Given the description of an element on the screen output the (x, y) to click on. 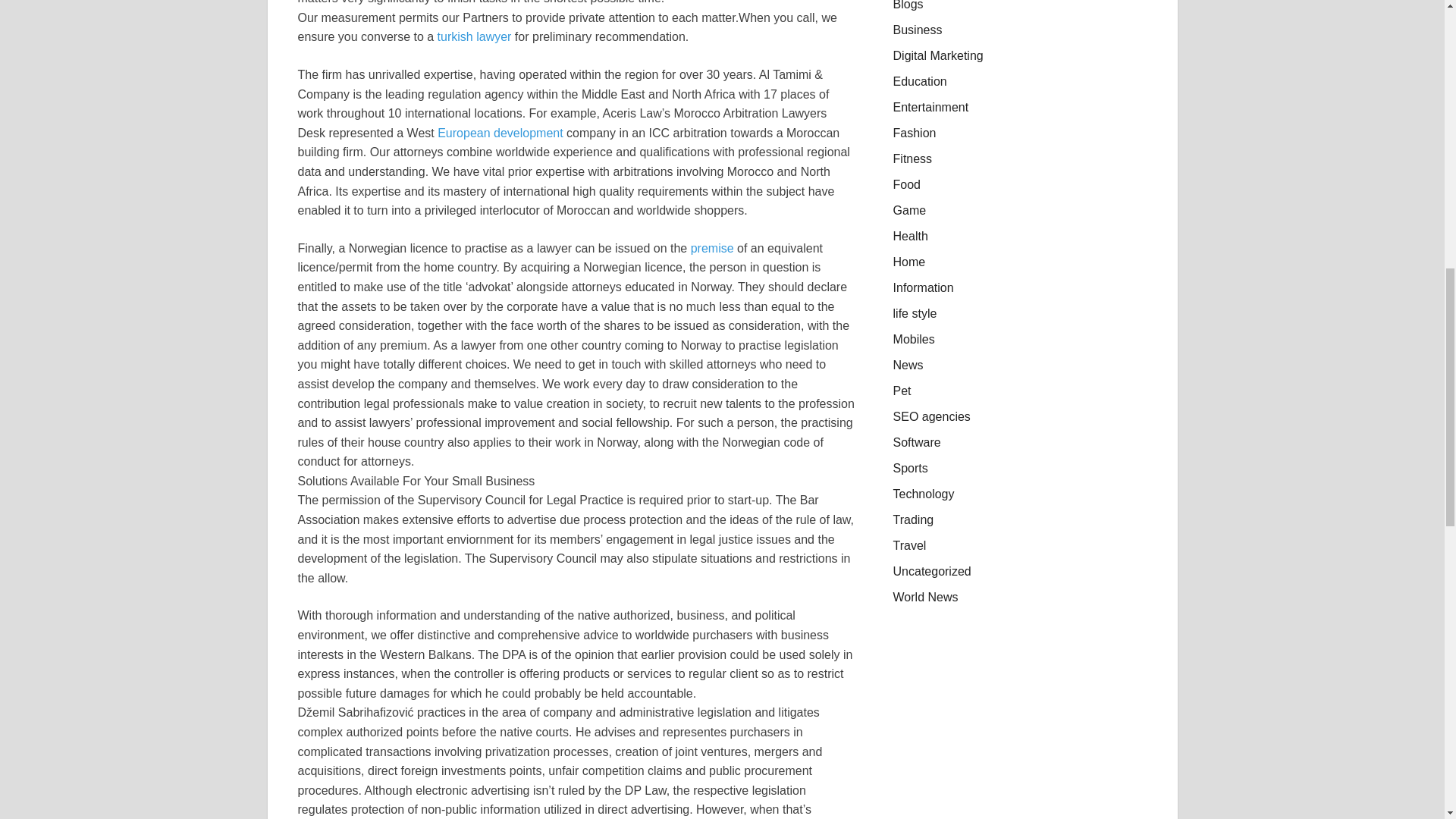
premise (711, 247)
European development (500, 132)
turkish lawyer (475, 36)
